Given the description of an element on the screen output the (x, y) to click on. 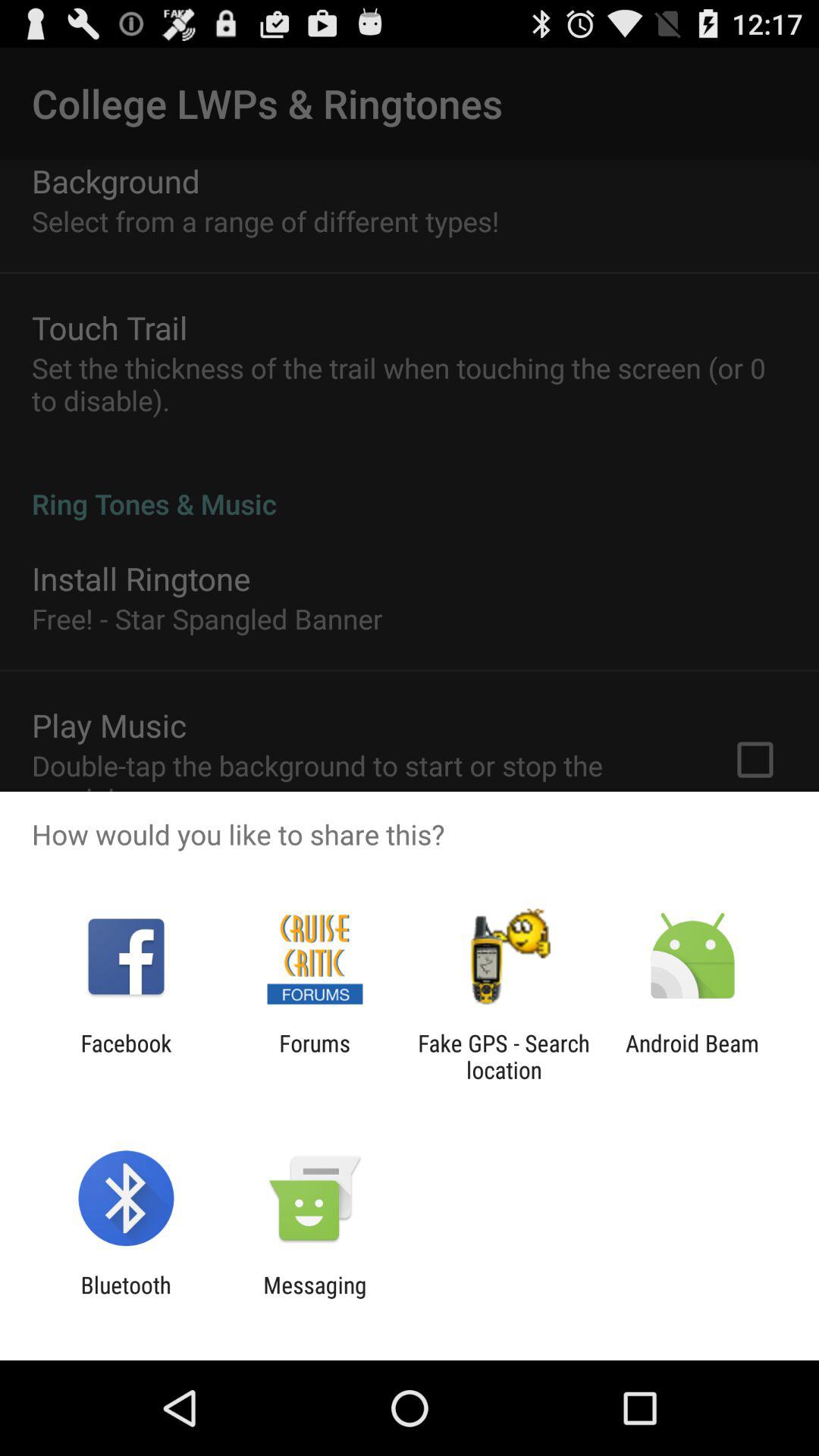
swipe until facebook app (125, 1056)
